Given the description of an element on the screen output the (x, y) to click on. 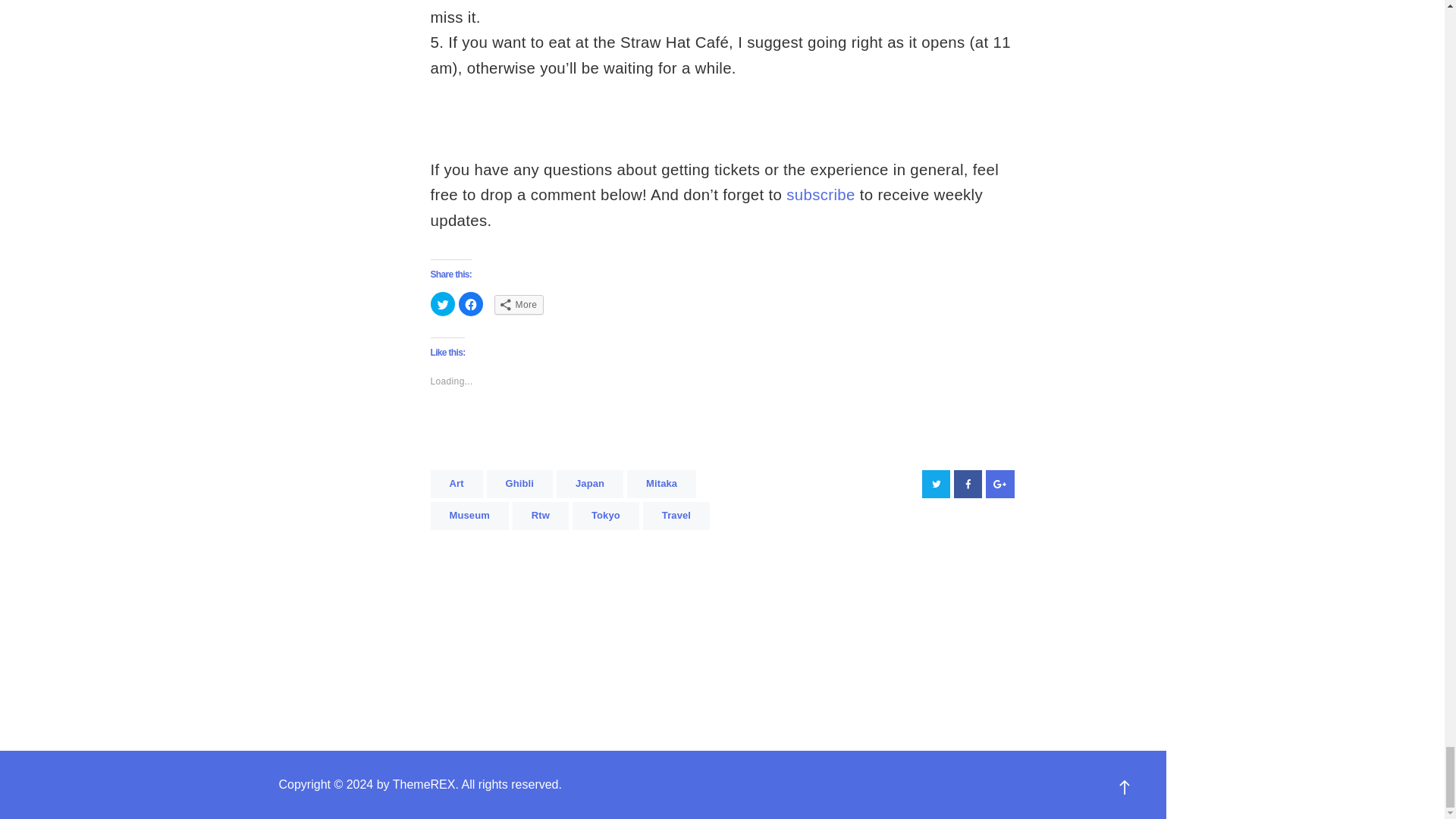
Click to share on Twitter (442, 303)
Scroll to top (1126, 784)
Click to share on Facebook (470, 303)
